Given the description of an element on the screen output the (x, y) to click on. 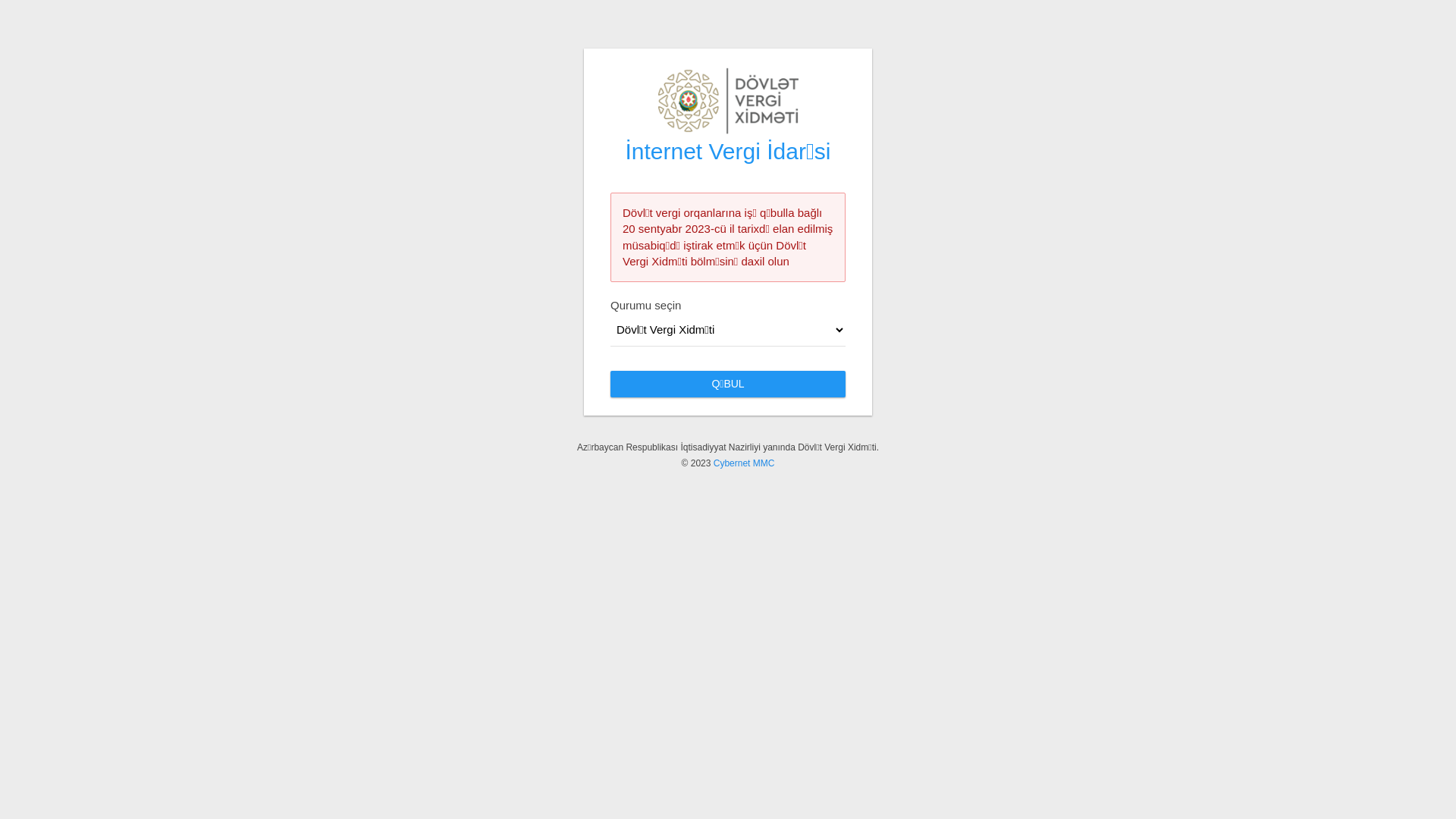
Cybernet MMC Element type: text (744, 463)
